Given the description of an element on the screen output the (x, y) to click on. 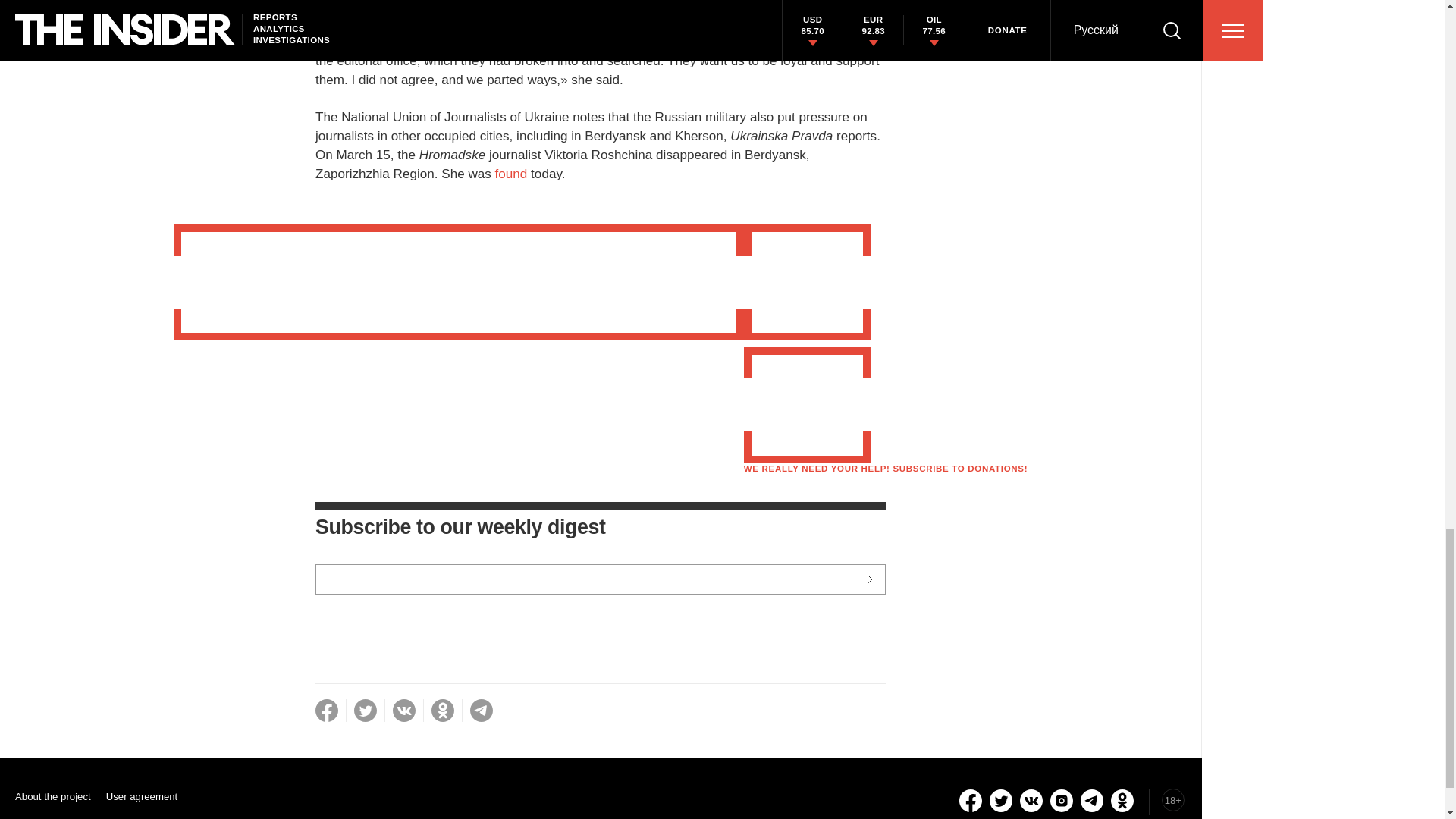
found (511, 173)
About the project (52, 795)
WE REALLY NEED YOUR HELP! SUBSCRIBE TO DONATIONS! (885, 468)
User agreement (141, 795)
